Given the description of an element on the screen output the (x, y) to click on. 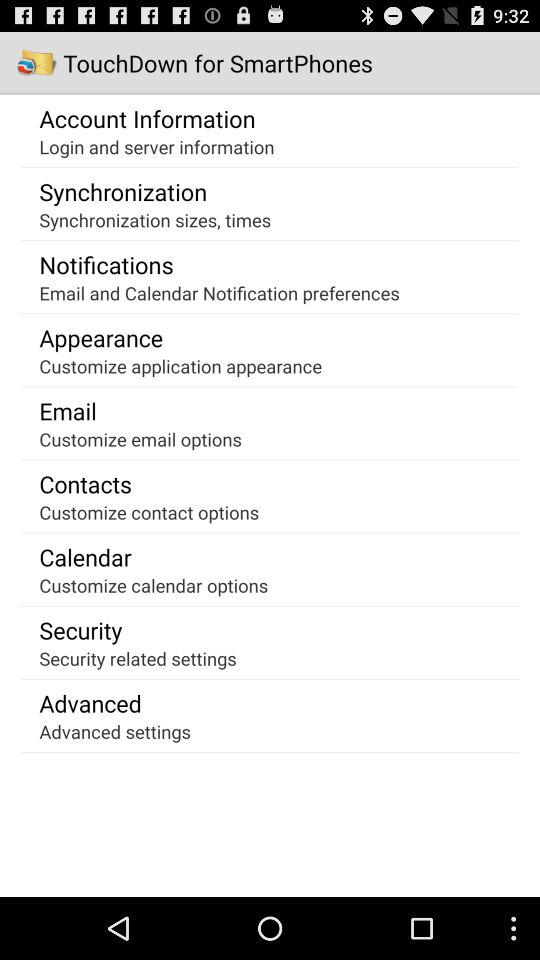
choose the app below the notifications (219, 292)
